Given the description of an element on the screen output the (x, y) to click on. 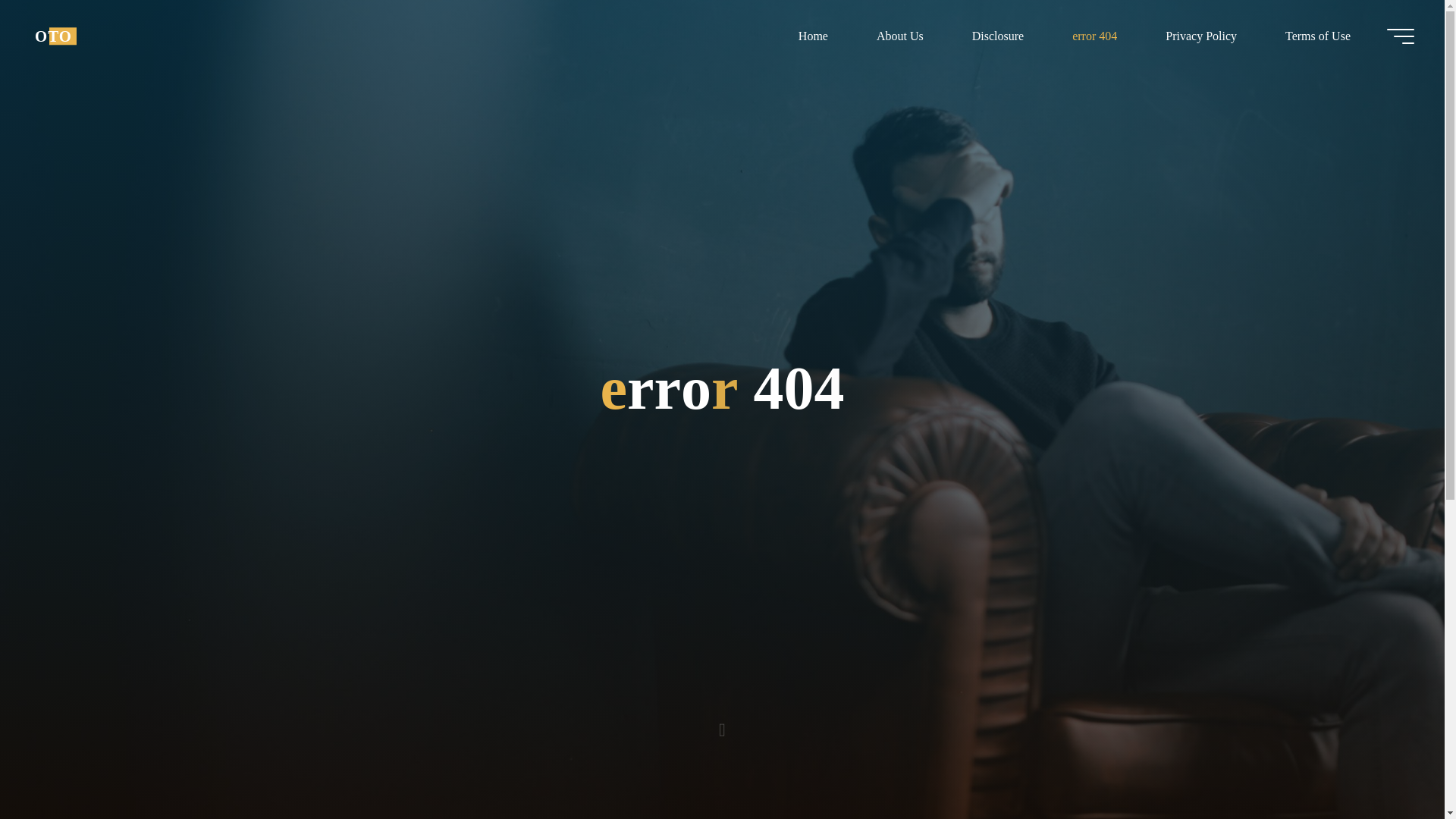
About Us (899, 35)
Terms of Use (1317, 35)
Read more (721, 724)
Disclosure (997, 35)
Home (812, 35)
OTO (53, 36)
Privacy Policy (1200, 35)
error 404 (1094, 35)
